Given the description of an element on the screen output the (x, y) to click on. 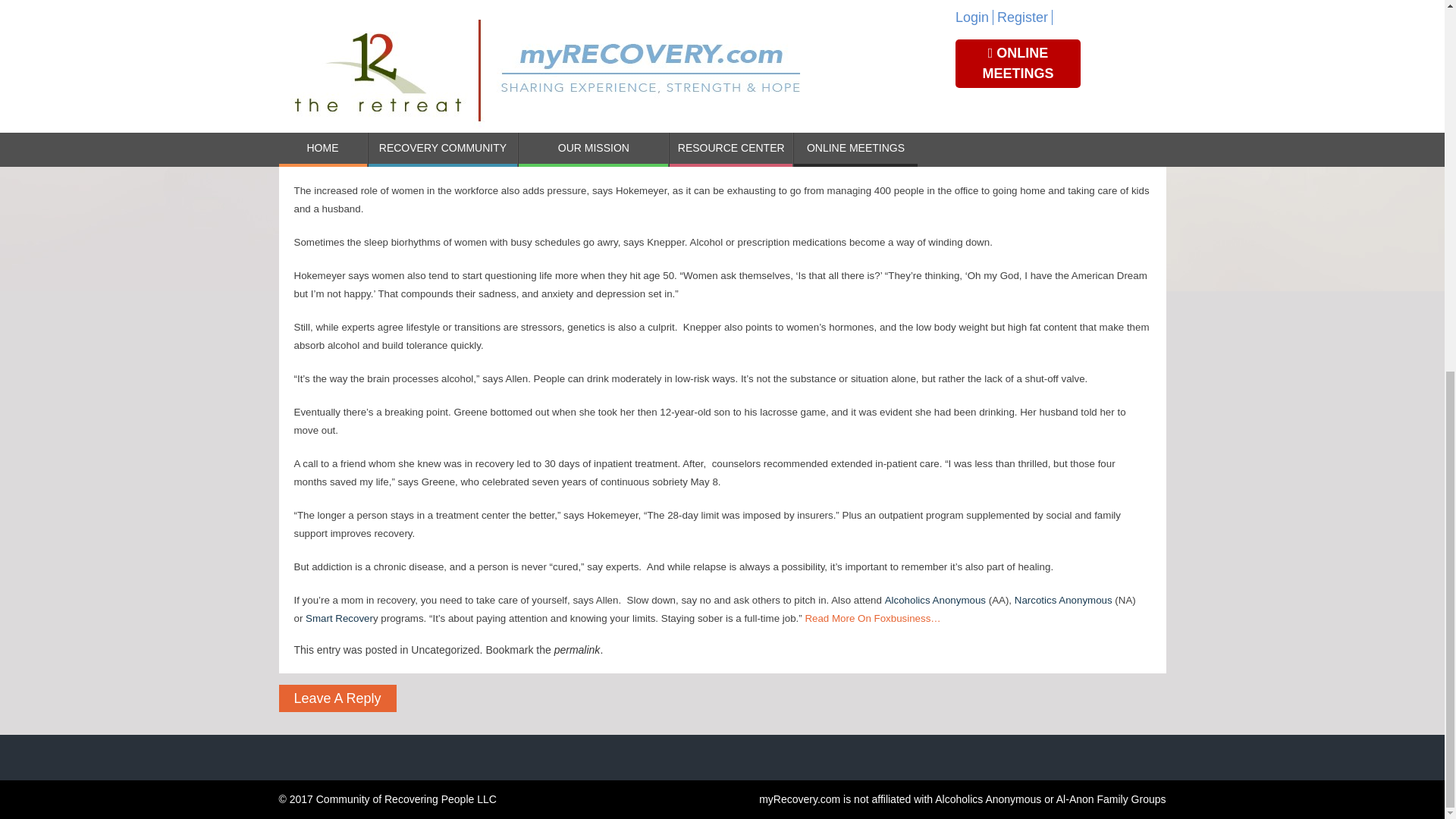
Alcoholics Anonymous (935, 600)
Leave A Reply (337, 697)
Smart Recover (338, 618)
Dr. Paul Hokemeyer (756, 156)
permalink (576, 649)
Sarah Allen Benton (1018, 53)
Narcotics Anonymous (1063, 600)
Ocean Drive (960, 156)
